Given the description of an element on the screen output the (x, y) to click on. 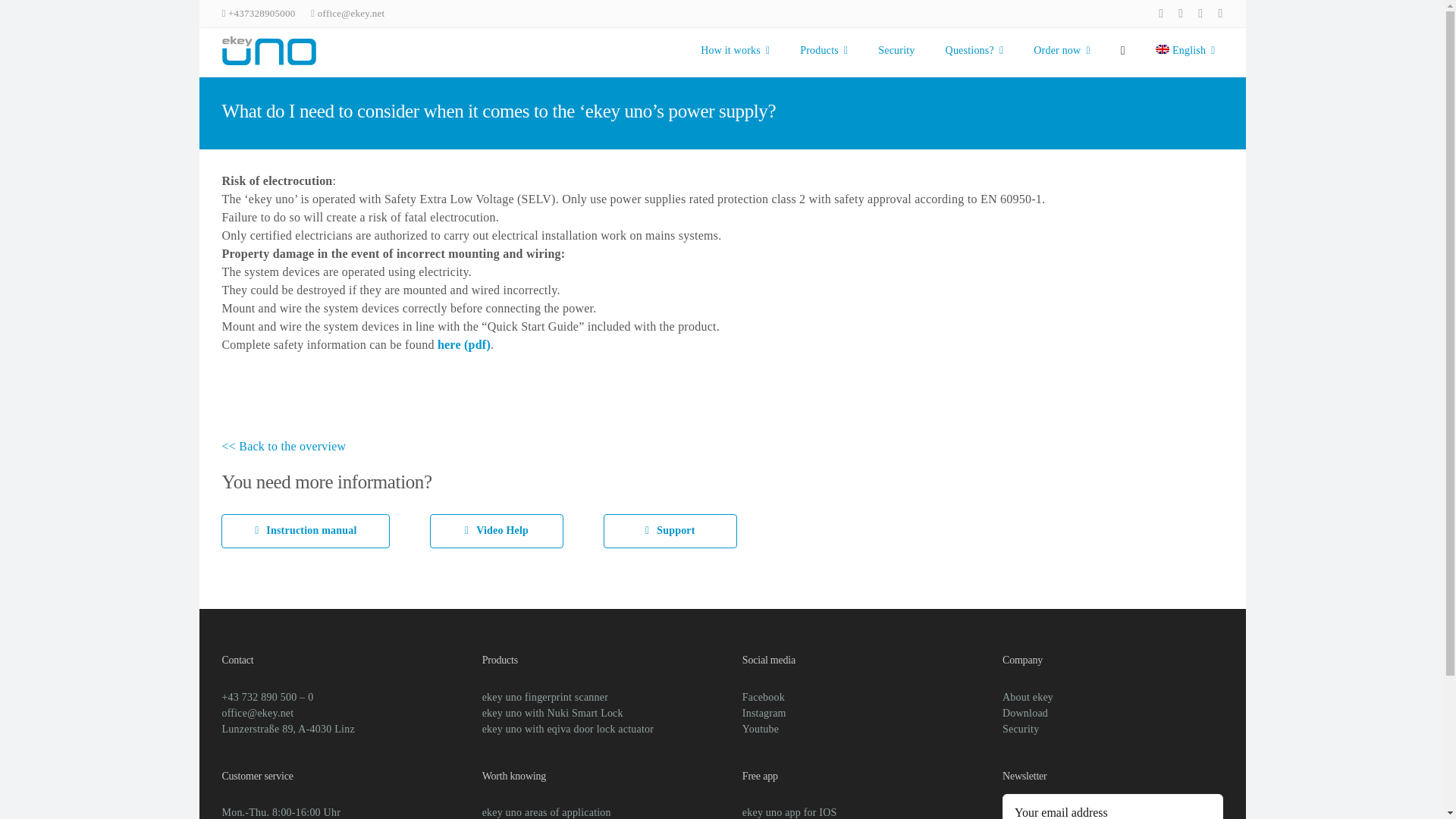
Instruction manual (305, 530)
Instagram (1179, 13)
Facebook (1160, 13)
Video Help (496, 530)
English (1185, 50)
Order now (721, 51)
LinkedIn (1061, 50)
Questions? (1220, 13)
Products (974, 50)
English (824, 50)
YouTube (1185, 50)
How it works (1200, 13)
Security (735, 50)
